Given the description of an element on the screen output the (x, y) to click on. 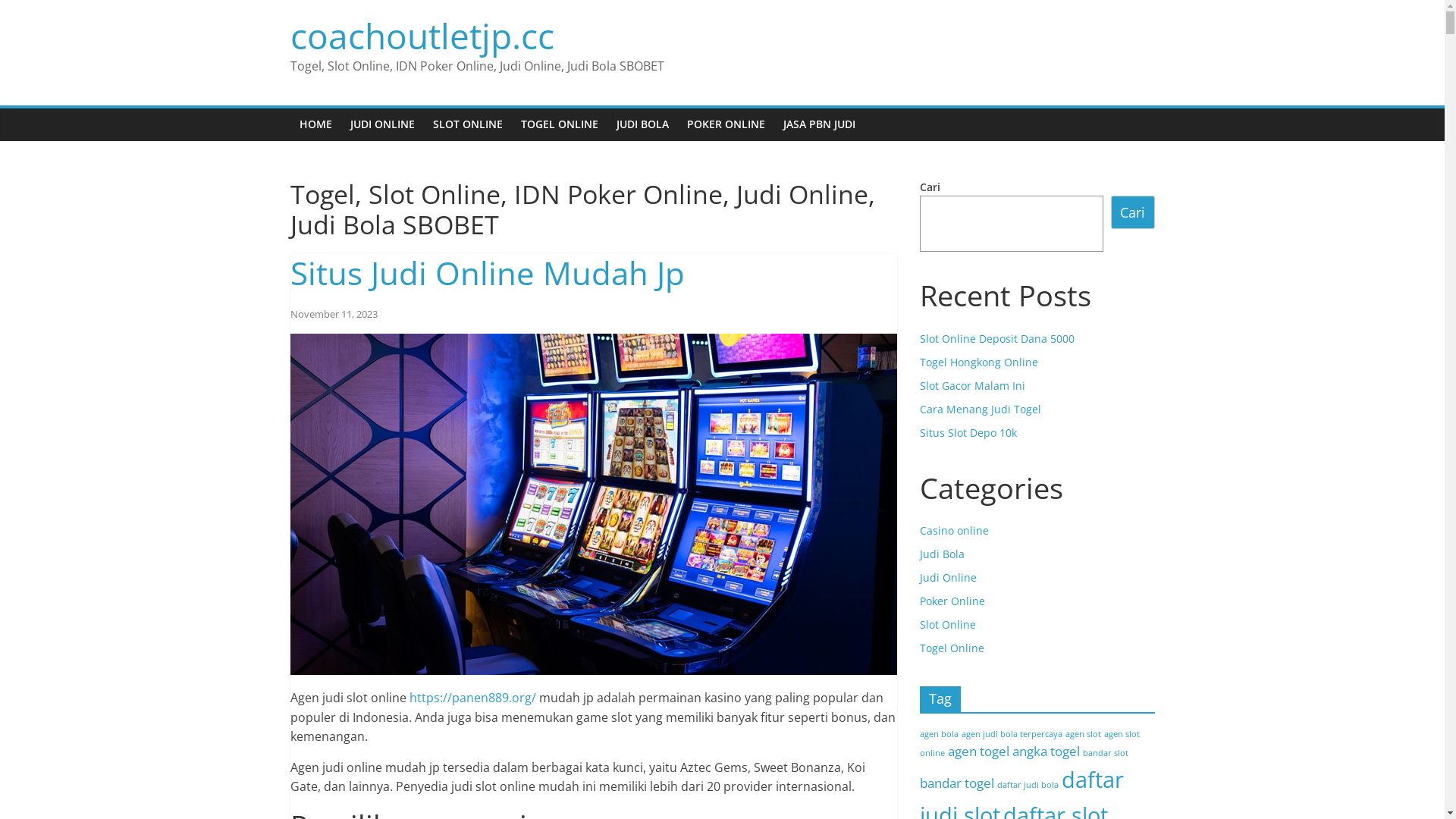
agen bola Element type: text (938, 733)
Slot Gacor Malam Ini Element type: text (971, 385)
Slot Online Element type: text (947, 624)
bandar togel Element type: text (956, 782)
Casino online Element type: text (953, 530)
Judi Online Element type: text (947, 577)
Situs Judi Online Mudah Jp Element type: text (486, 272)
JASA PBN JUDI Element type: text (818, 124)
daftar judi bola Element type: text (1026, 784)
SLOT ONLINE Element type: text (467, 124)
Togel Online Element type: text (951, 647)
Slot Online Deposit Dana 5000 Element type: text (996, 338)
JUDI BOLA Element type: text (641, 124)
Poker Online Element type: text (951, 600)
agen togel Element type: text (978, 750)
agen slot online Element type: text (1029, 743)
angka togel Element type: text (1045, 750)
agen judi bola terpercaya Element type: text (1011, 733)
Cara Menang Judi Togel Element type: text (979, 408)
bandar slot Element type: text (1105, 752)
Situs Slot Depo 10k Element type: text (967, 432)
POKER ONLINE Element type: text (725, 124)
HOME Element type: text (314, 124)
November 11, 2023 Element type: text (332, 313)
JUDI ONLINE Element type: text (382, 124)
Togel Hongkong Online Element type: text (978, 361)
TOGEL ONLINE Element type: text (558, 124)
Judi Bola Element type: text (941, 553)
coachoutletjp.cc Element type: text (421, 35)
https://panen889.org/ Element type: text (472, 697)
agen slot Element type: text (1082, 733)
Cari Element type: text (1132, 212)
